Given the description of an element on the screen output the (x, y) to click on. 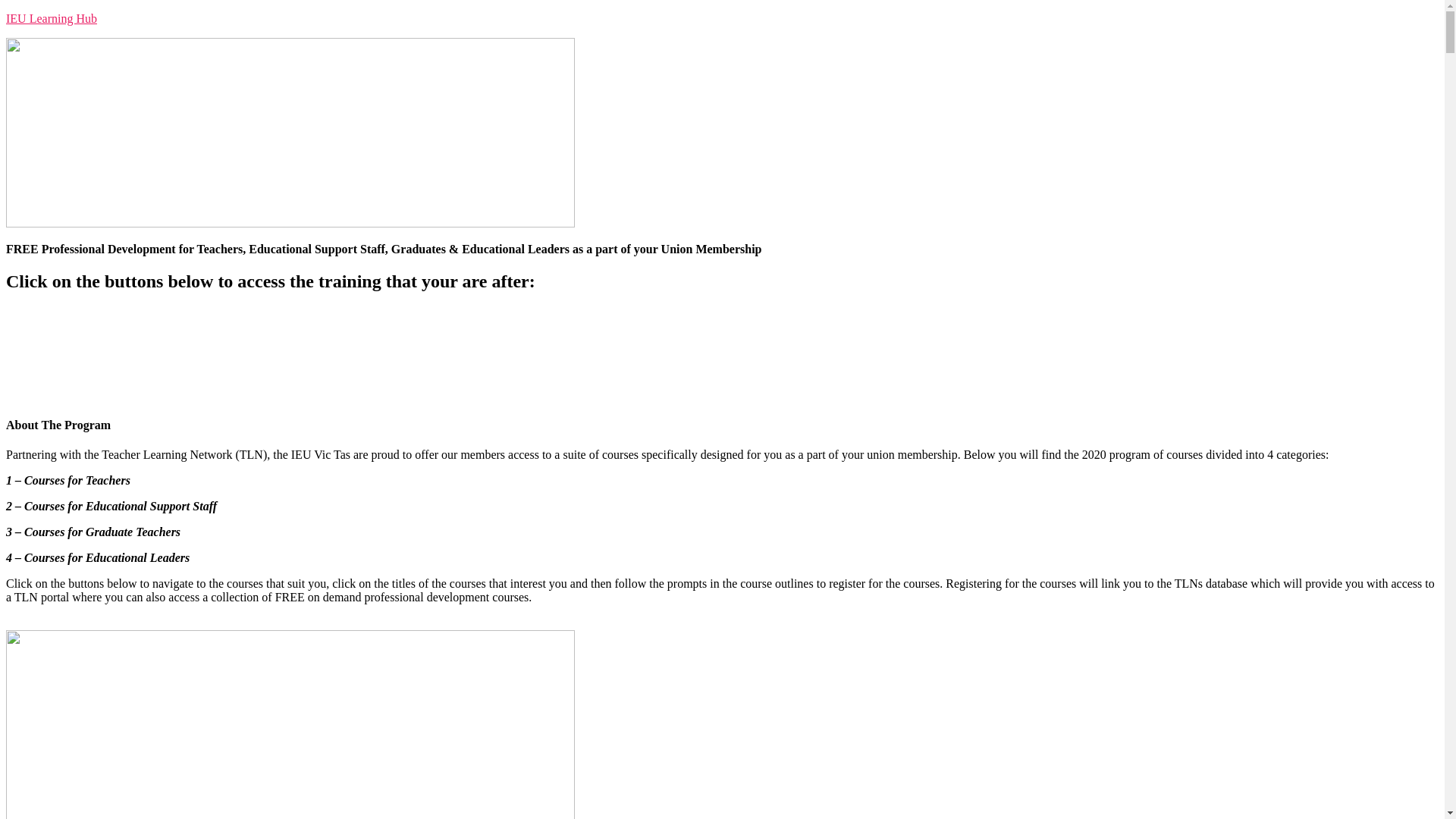
IEU Learning Hub Element type: text (722, 18)
